Given the description of an element on the screen output the (x, y) to click on. 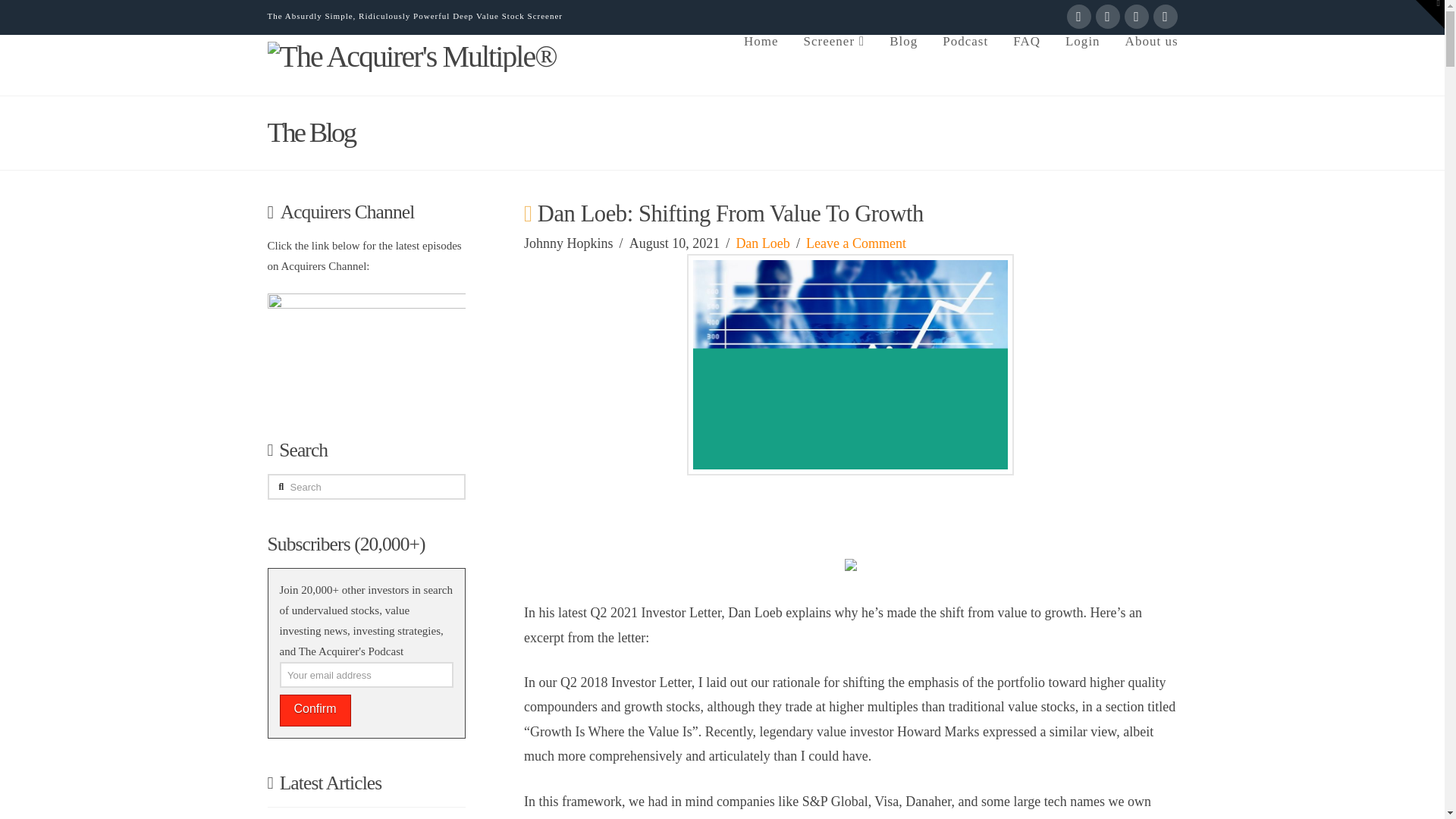
Dan Loeb (762, 242)
About us (1144, 65)
Facebook (1077, 16)
Leave a Comment (855, 242)
Home (760, 65)
Screener (833, 65)
Confirm (314, 710)
Podcast (965, 65)
Login (1082, 65)
RSS (1164, 16)
LinkedIn (1136, 16)
